Given the description of an element on the screen output the (x, y) to click on. 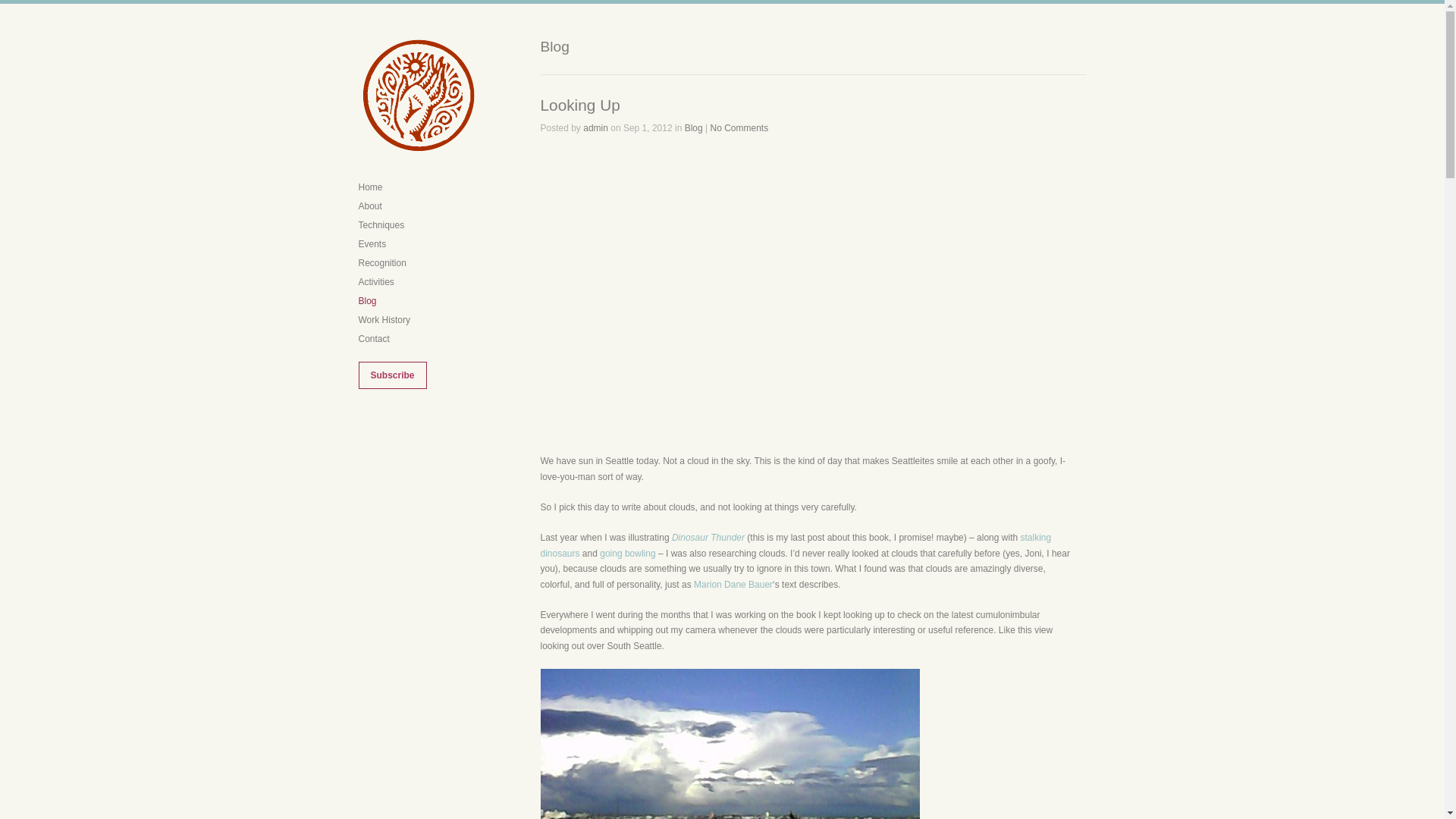
Blog (366, 300)
Looking Up (580, 104)
Activities (375, 281)
Home (369, 186)
Events (371, 244)
Dinosaur Thunder, the book (707, 537)
Techniques (381, 225)
Blog (693, 127)
About (369, 205)
